Given the description of an element on the screen output the (x, y) to click on. 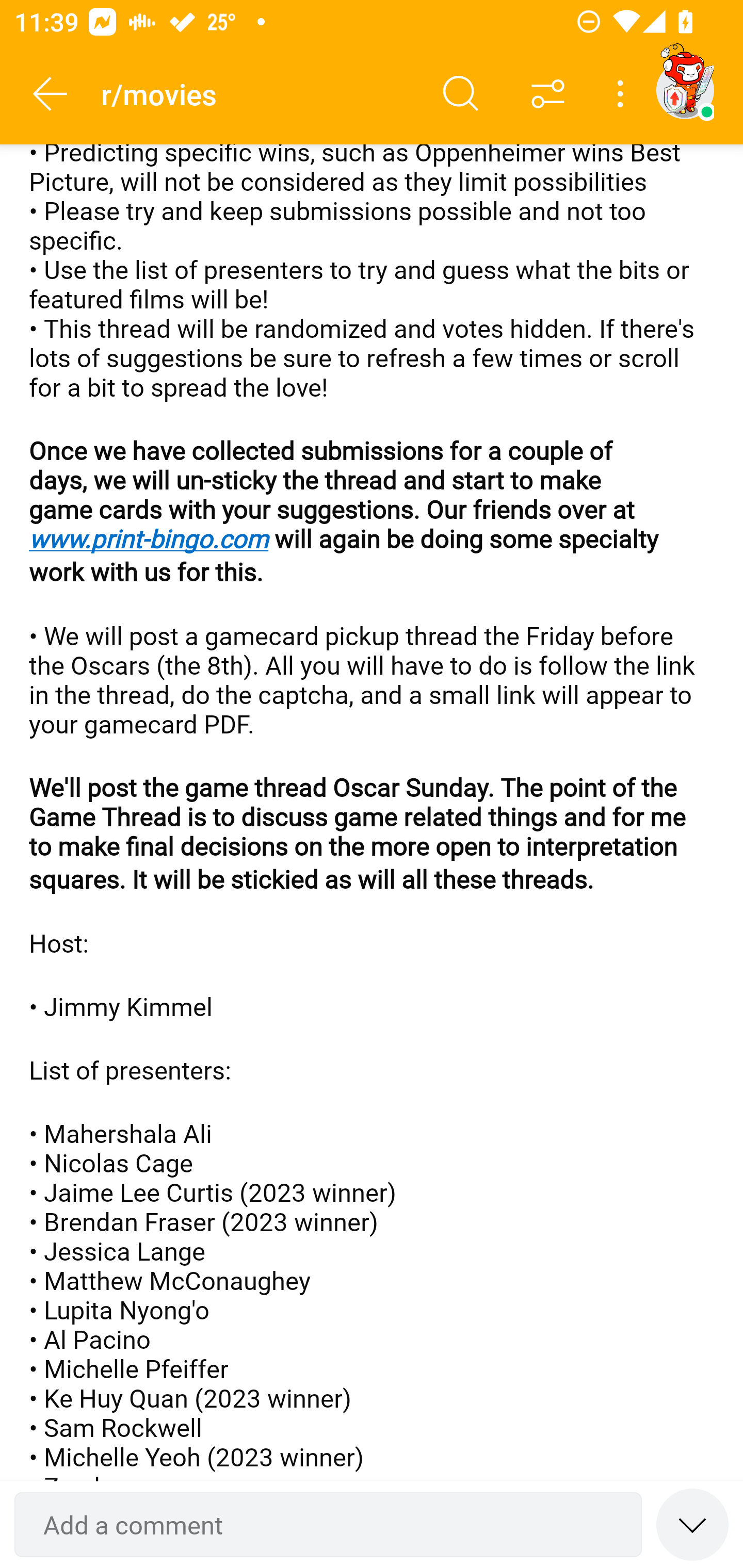
Back (50, 93)
TestAppium002 account (685, 90)
Search comments (460, 93)
Sort comments (547, 93)
More options (623, 93)
r/movies (259, 92)
Speed read (692, 1524)
Add a comment (327, 1524)
